Given the description of an element on the screen output the (x, y) to click on. 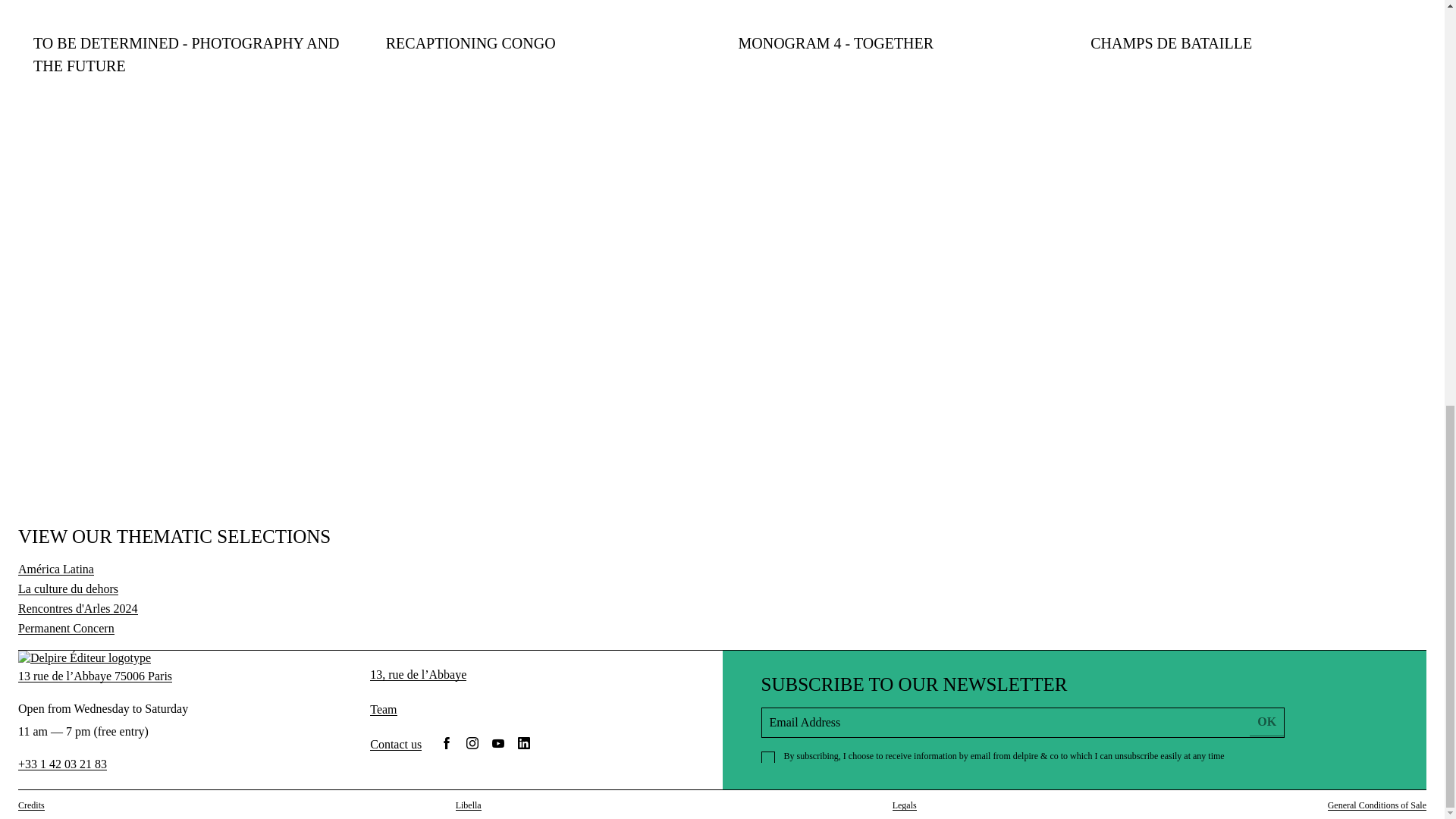
Team (382, 708)
ok (1266, 721)
Rencontres d'Arles 2024 (77, 608)
Permanent Concern (66, 627)
La culture du dehors (67, 588)
Contact us (395, 742)
